Given the description of an element on the screen output the (x, y) to click on. 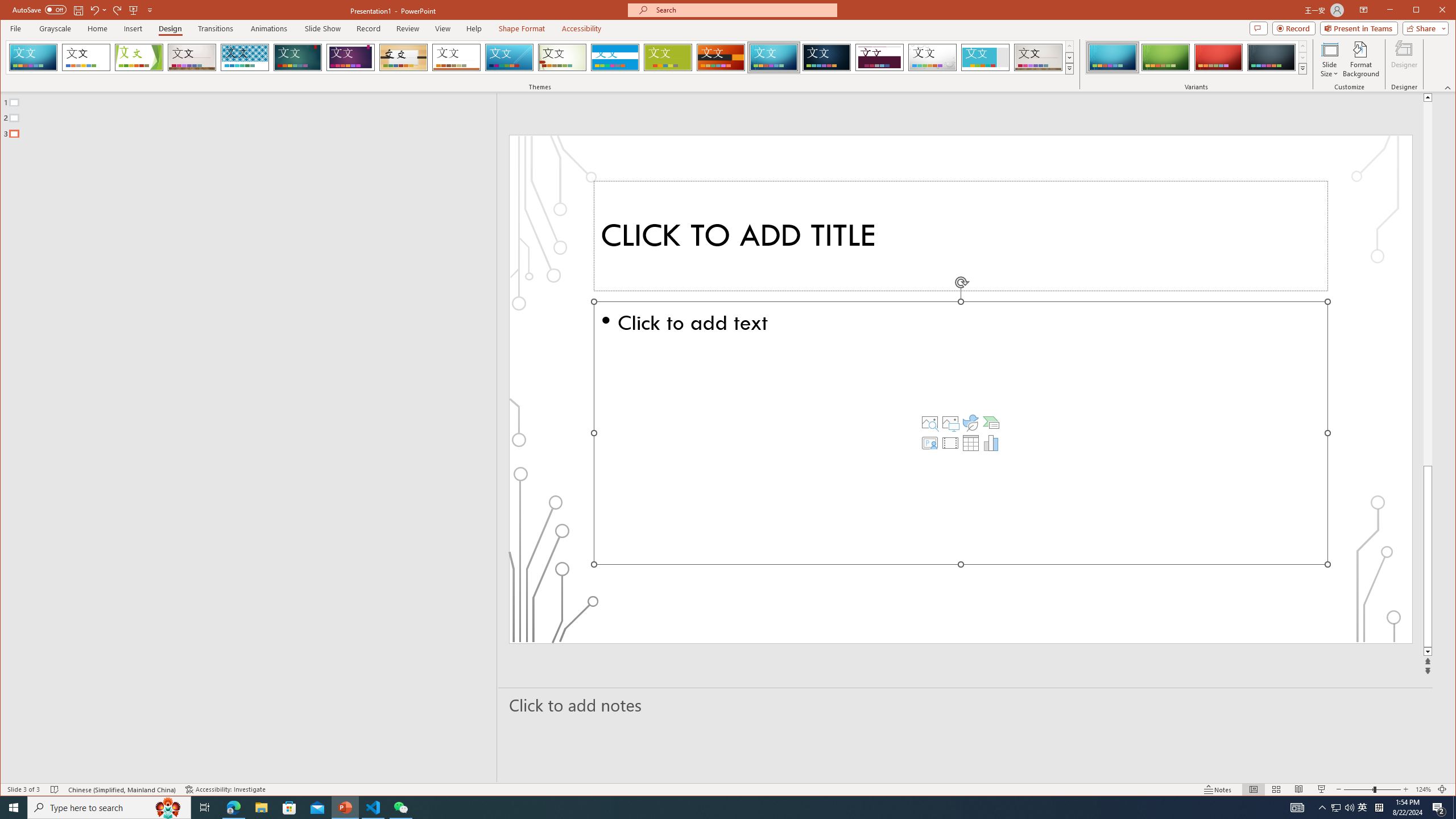
Format Background (1360, 59)
Insert Video (949, 443)
Themes (1069, 68)
WeChat - 1 running window (400, 807)
Content Placeholder (960, 433)
